Given the description of an element on the screen output the (x, y) to click on. 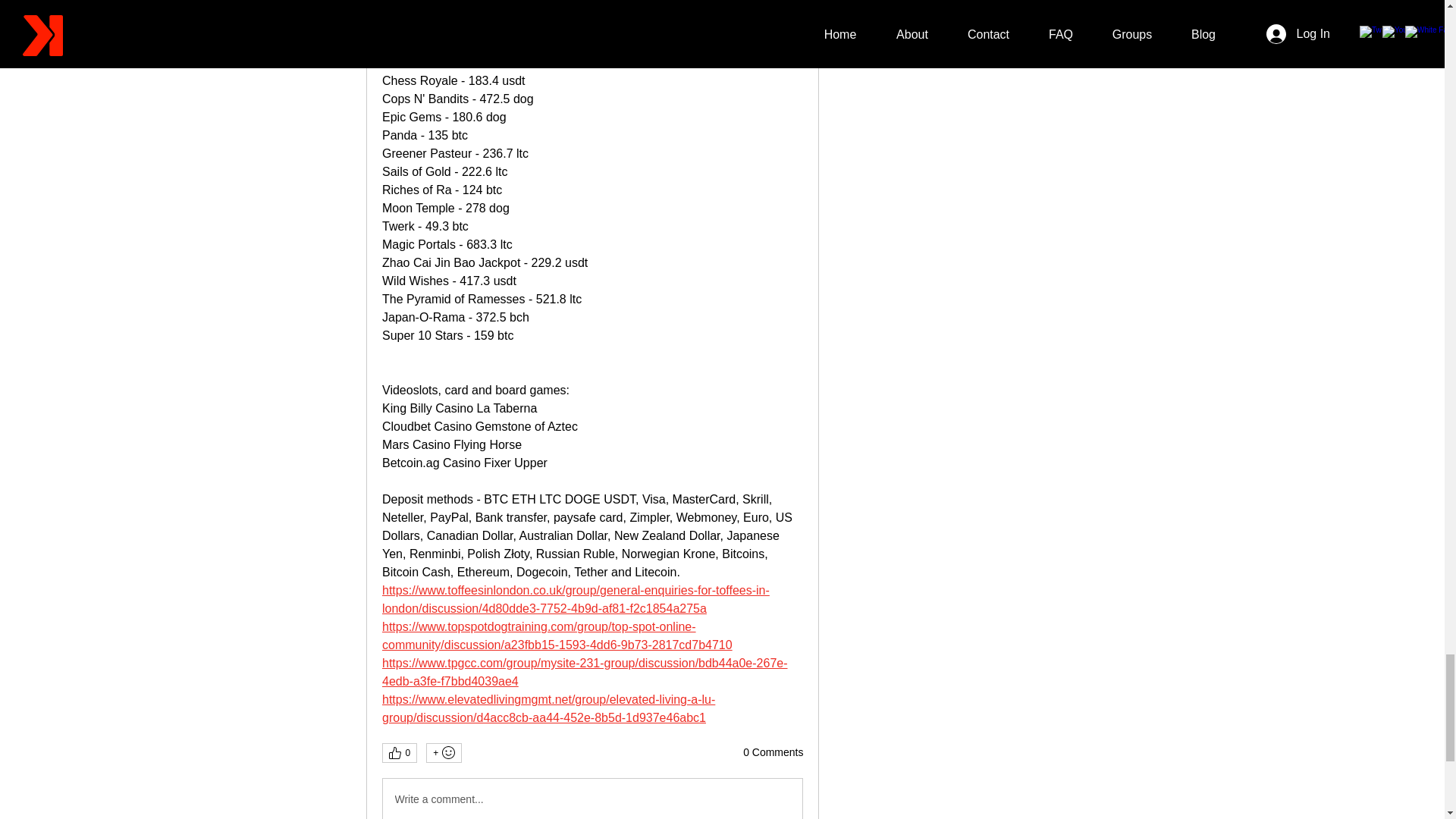
0 Comments (772, 752)
Write a comment... (591, 798)
